Given the description of an element on the screen output the (x, y) to click on. 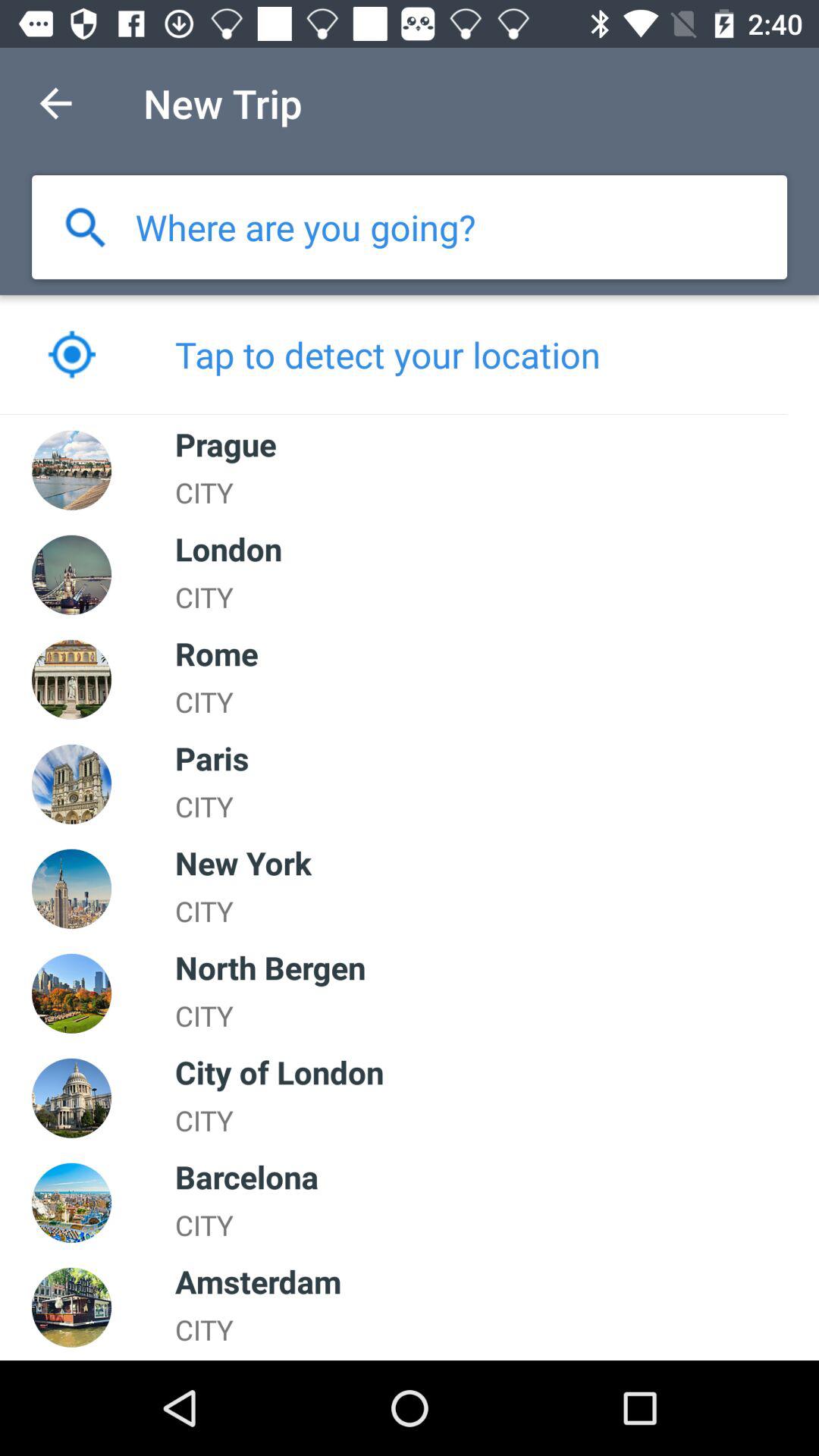
click on the  sixth image (71, 993)
select the text in the search field (305, 226)
click on the image beside barcelona (71, 1203)
